Given the description of an element on the screen output the (x, y) to click on. 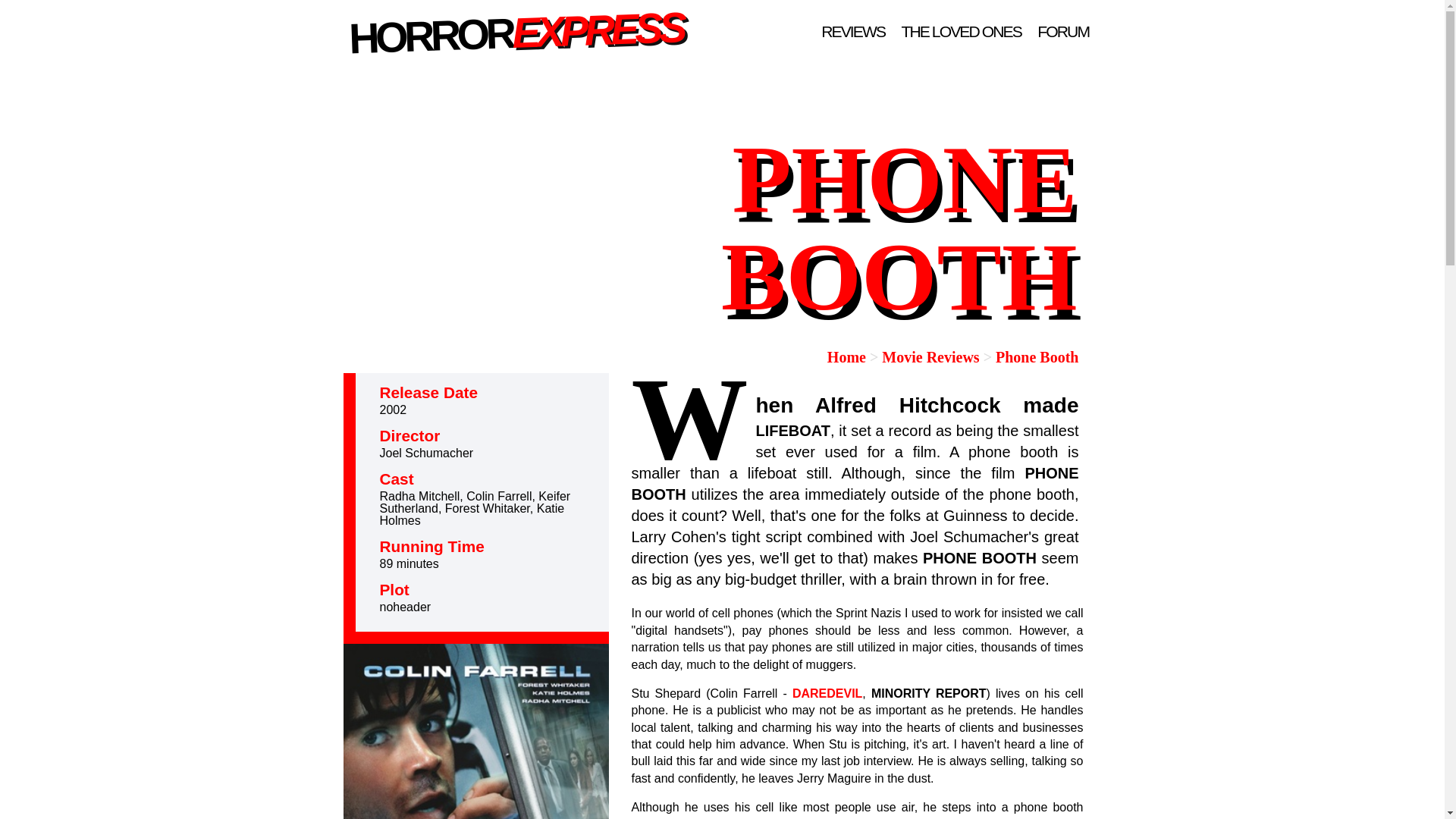
FORUM (1063, 31)
Home (846, 356)
Phone Booth (1036, 356)
DAREDEVIL (826, 693)
HORROREXPRESS (512, 25)
Movie Reviews (930, 356)
REVIEWS (853, 31)
THE LOVED ONES (961, 31)
